Given the description of an element on the screen output the (x, y) to click on. 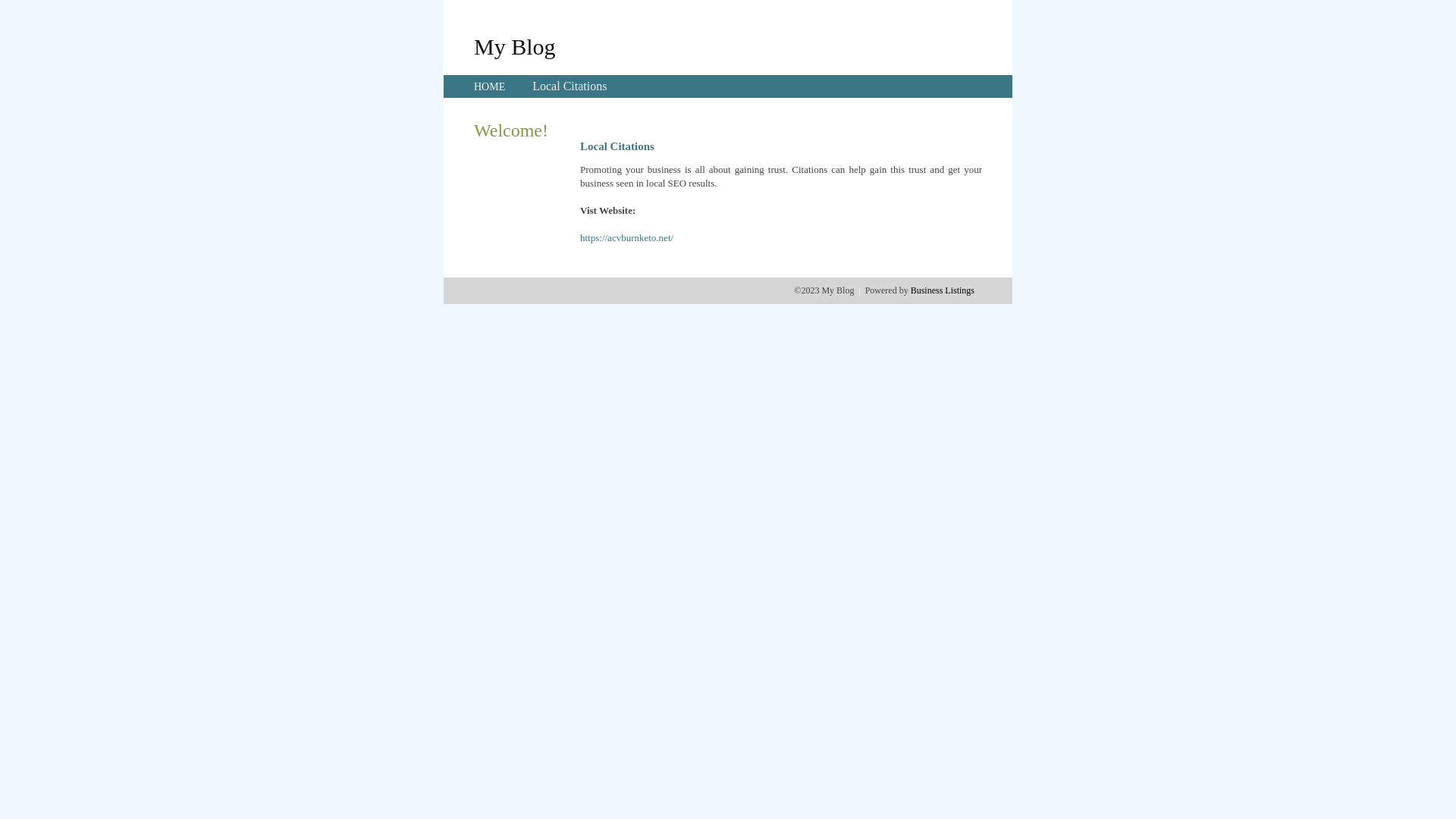
HOME Element type: text (489, 86)
Local Citations Element type: text (569, 85)
https://acvburnketo.net/ Element type: text (626, 237)
My Blog Element type: text (514, 46)
Business Listings Element type: text (942, 290)
